Given the description of an element on the screen output the (x, y) to click on. 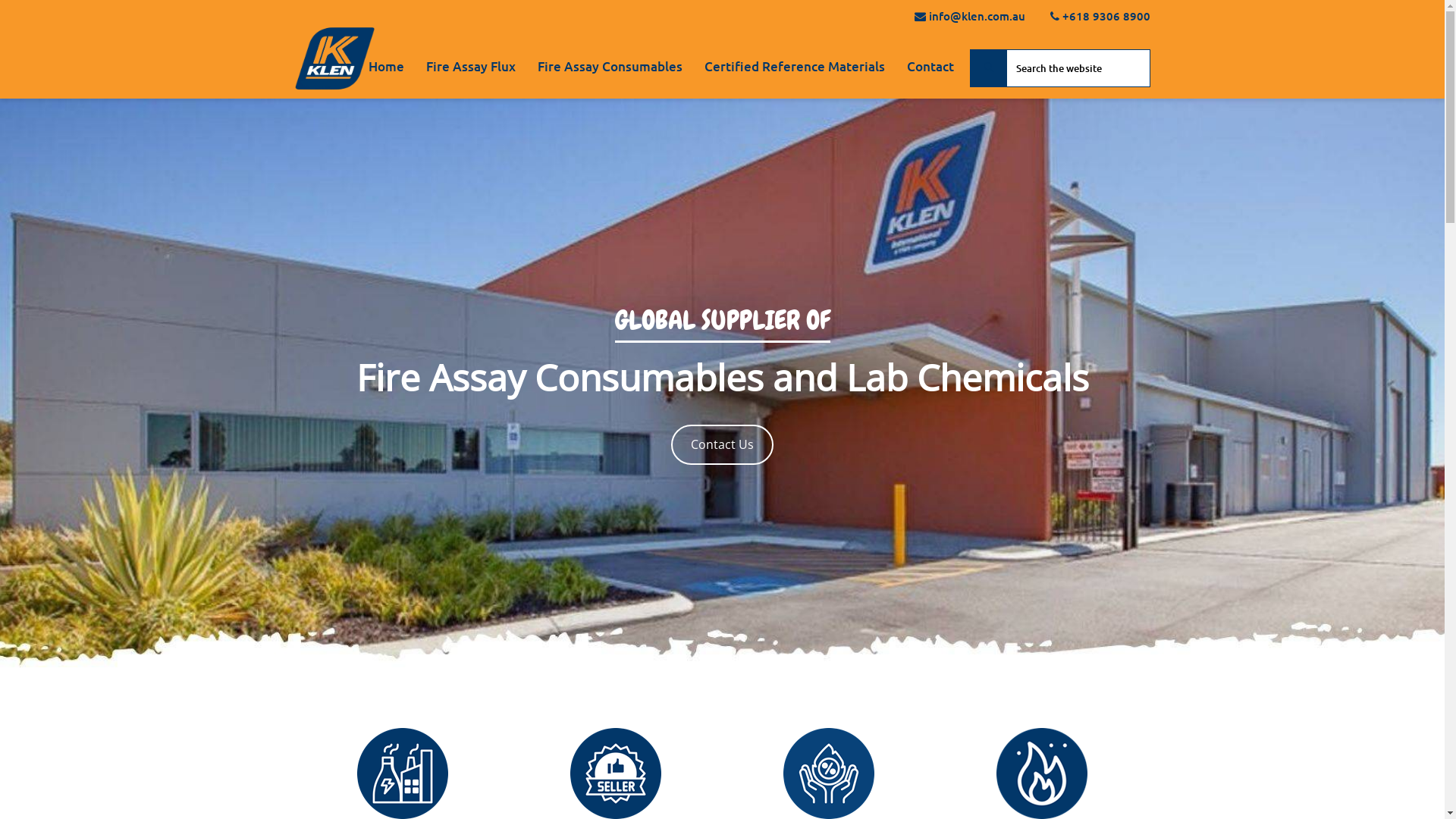
+618 9306 8900 Element type: text (1103, 15)
Fire Assay Consumables Element type: text (608, 68)
info@klen.com.au Element type: text (974, 15)
Home Element type: text (386, 68)
Certified Reference Materials Element type: text (793, 66)
Contact Element type: text (930, 68)
Contact Us Element type: text (722, 444)
Fire Assay Flux Element type: text (470, 68)
